Given the description of an element on the screen output the (x, y) to click on. 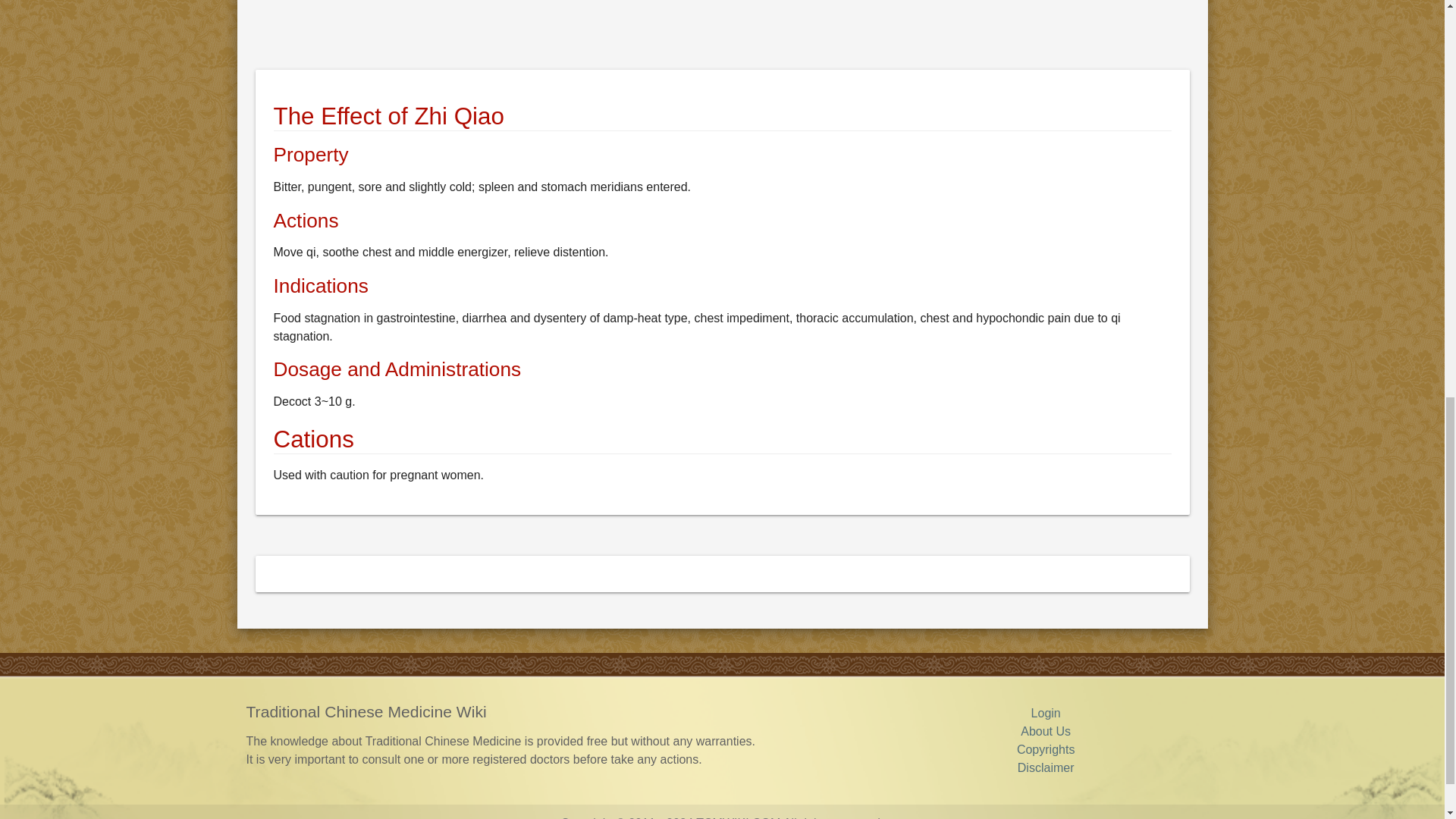
About Us (1045, 730)
Copyrights (1045, 748)
Disclaimer (1045, 767)
Advertisement (709, 31)
Login (1045, 712)
